Given the description of an element on the screen output the (x, y) to click on. 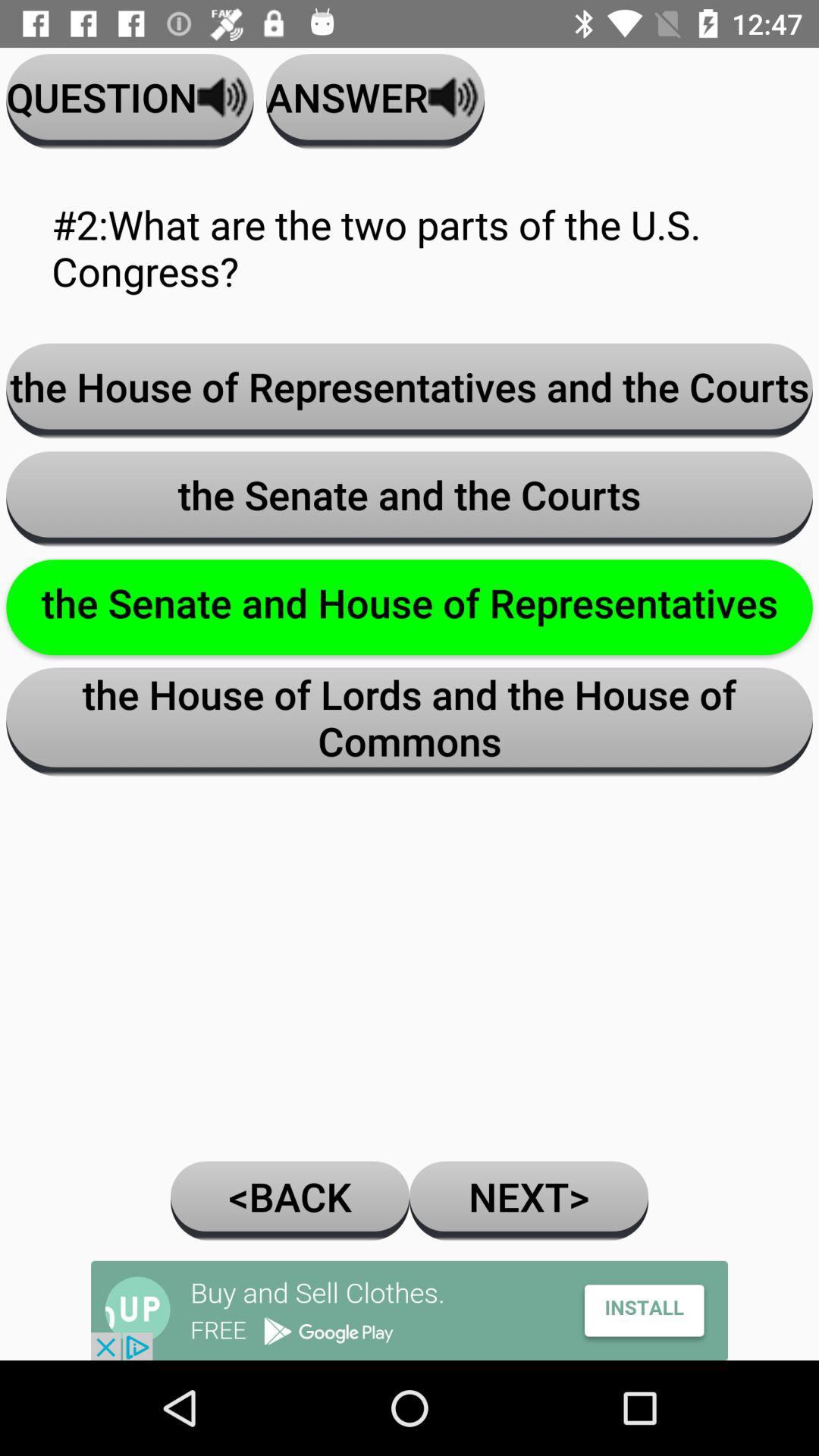
open advertisement (409, 1310)
